Given the description of an element on the screen output the (x, y) to click on. 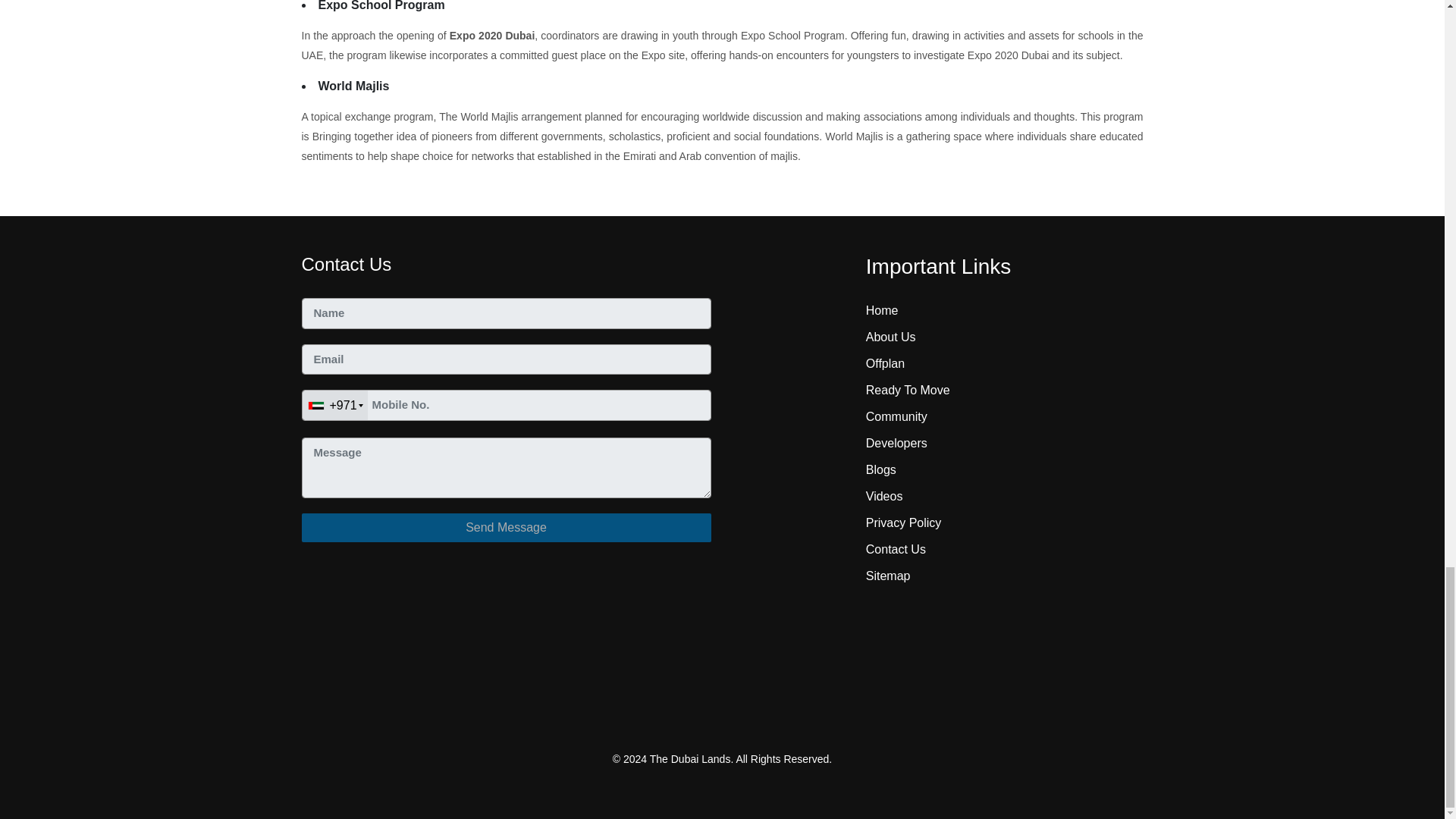
Blogs (881, 469)
About Us (890, 336)
Offplan (885, 363)
Sitemap (888, 575)
Developers (896, 442)
Ready To Move (908, 390)
Privacy Policy (904, 522)
Videos (884, 495)
Home (882, 309)
The Dubai Lands. (691, 758)
Send Message (506, 527)
Contact Us (896, 549)
Community (896, 416)
